Given the description of an element on the screen output the (x, y) to click on. 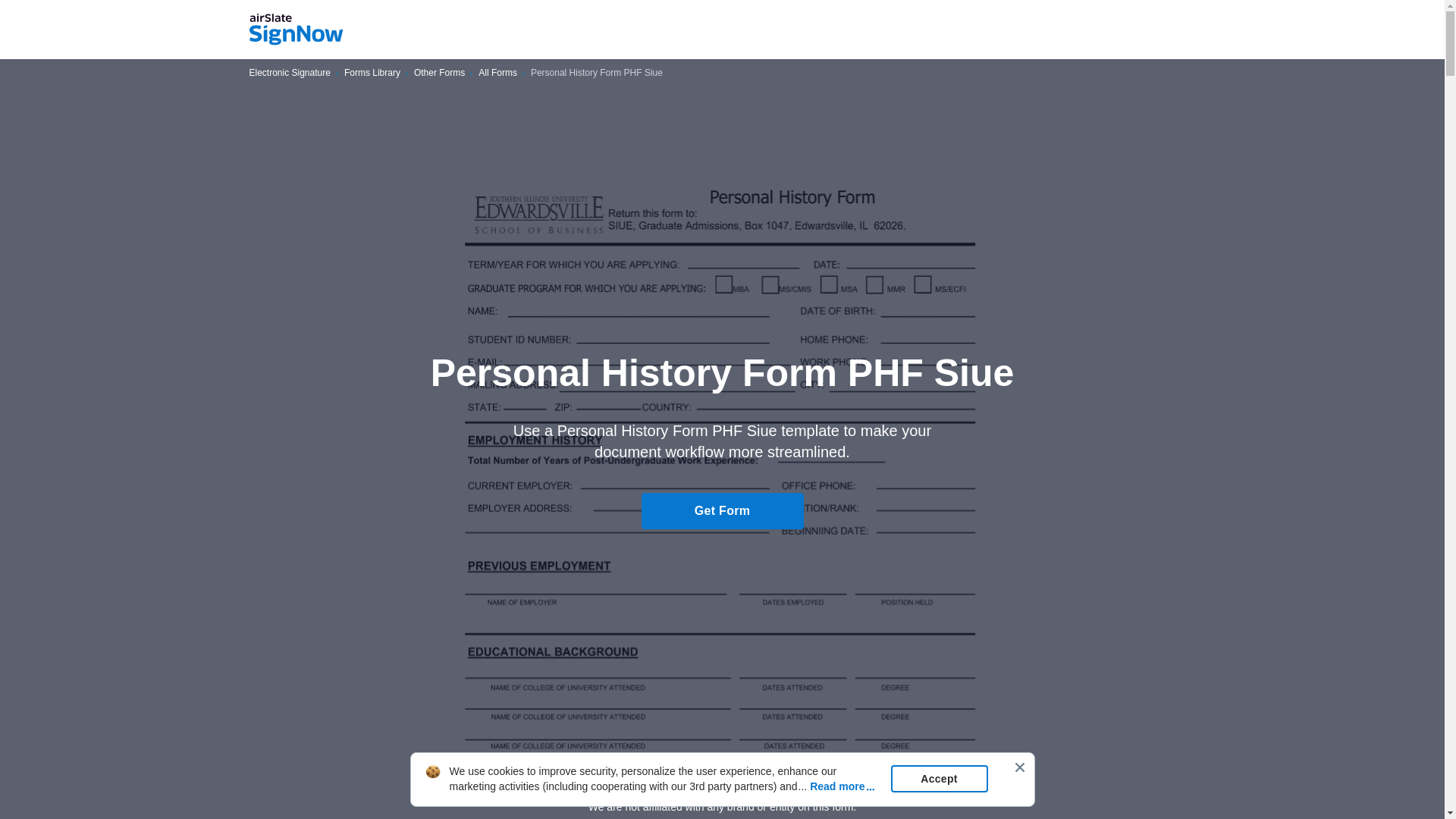
Other Forms (438, 73)
Show details (722, 780)
Get Form (722, 511)
All Forms (497, 73)
Electronic Signature (289, 73)
signNow (295, 29)
Forms Library (371, 73)
